Given the description of an element on the screen output the (x, y) to click on. 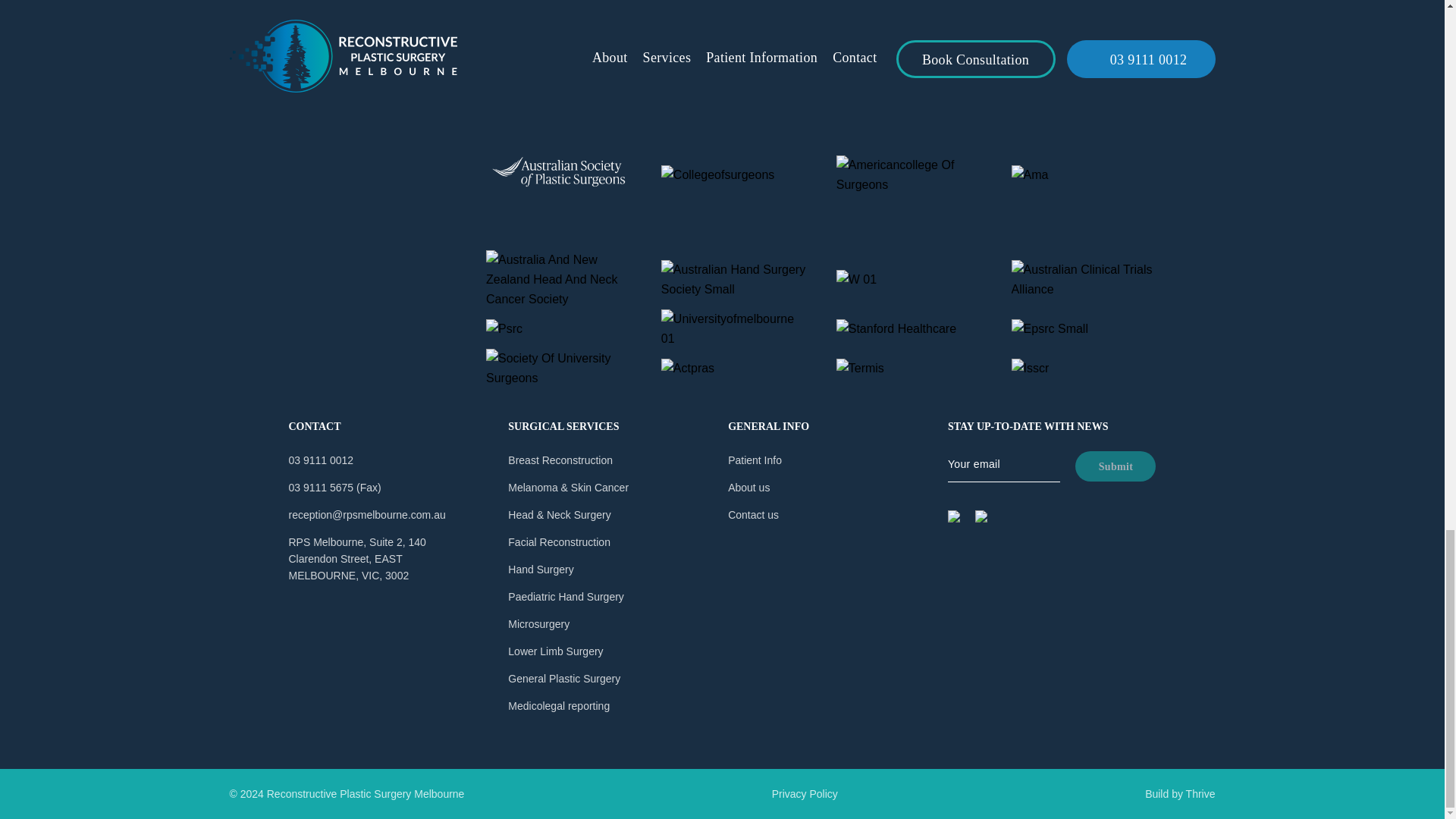
Submit (1115, 466)
03 9111 0012 (1094, 4)
Book Consultation (925, 4)
